Given the description of an element on the screen output the (x, y) to click on. 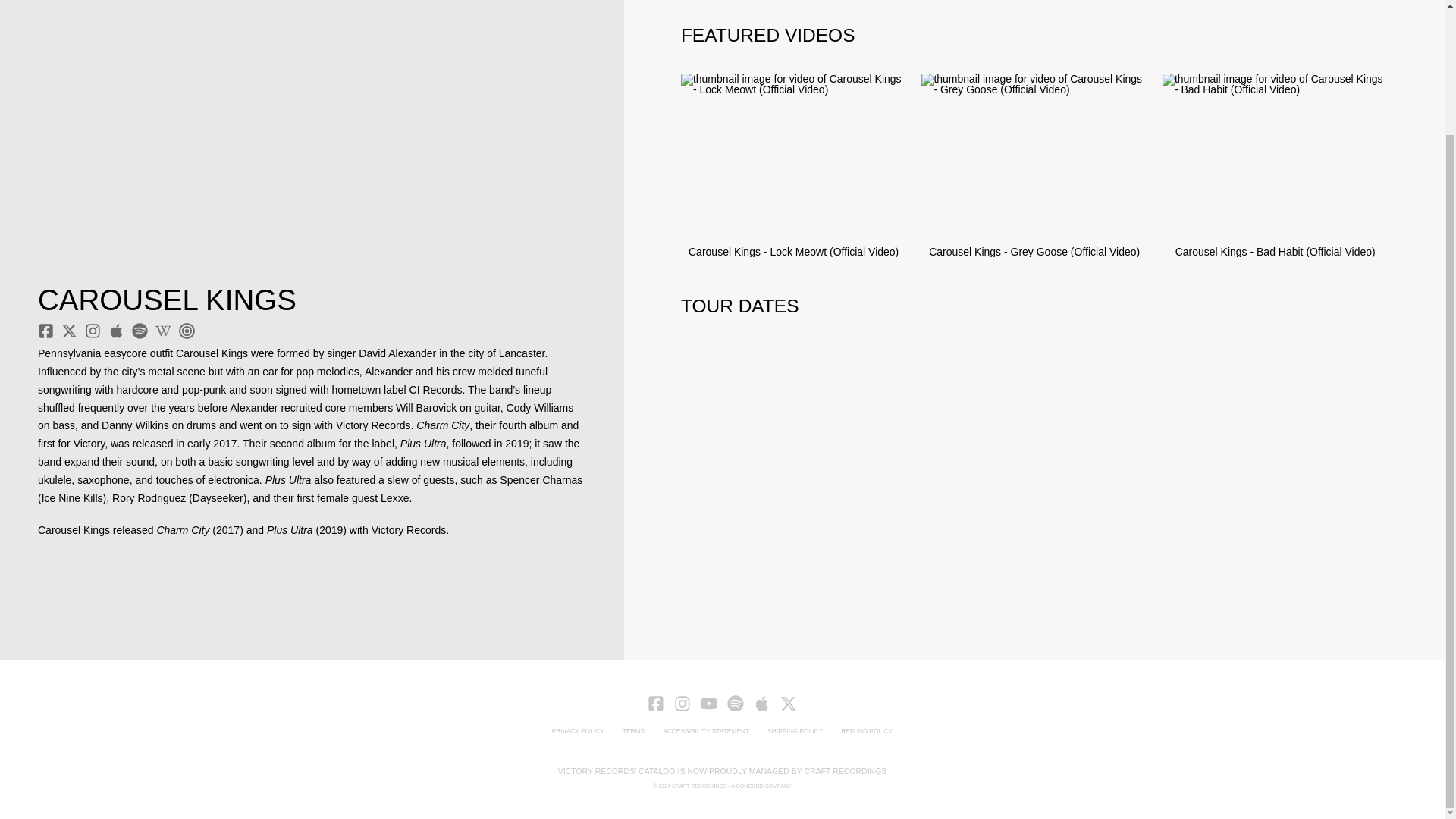
ACCESSIBILITY STATEMENT (705, 730)
CRAFT RECORDINGS (698, 785)
PRIVACY POLICY (577, 730)
SEARCH (861, 247)
SEARCH (838, 247)
SHIPPING POLICY (794, 730)
REFUND POLICY (866, 730)
TERMS (632, 730)
